Given the description of an element on the screen output the (x, y) to click on. 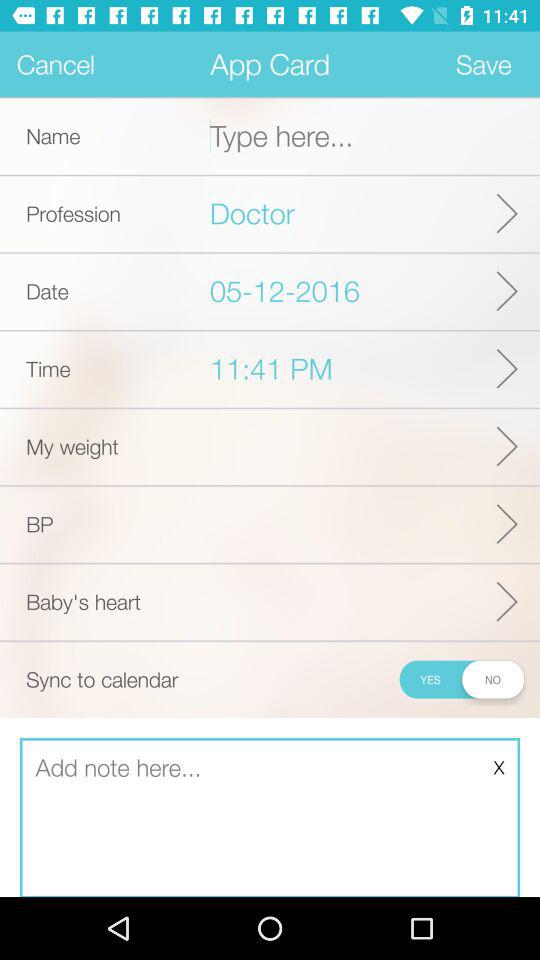
click on next arrow right to 1141 pm (507, 368)
select the second next icon from the top of the page (507, 291)
click on the yesno button which is right to the text sync to calender (461, 678)
click on the caret right arrow which is to the right side of bp option (507, 524)
